Given the description of an element on the screen output the (x, y) to click on. 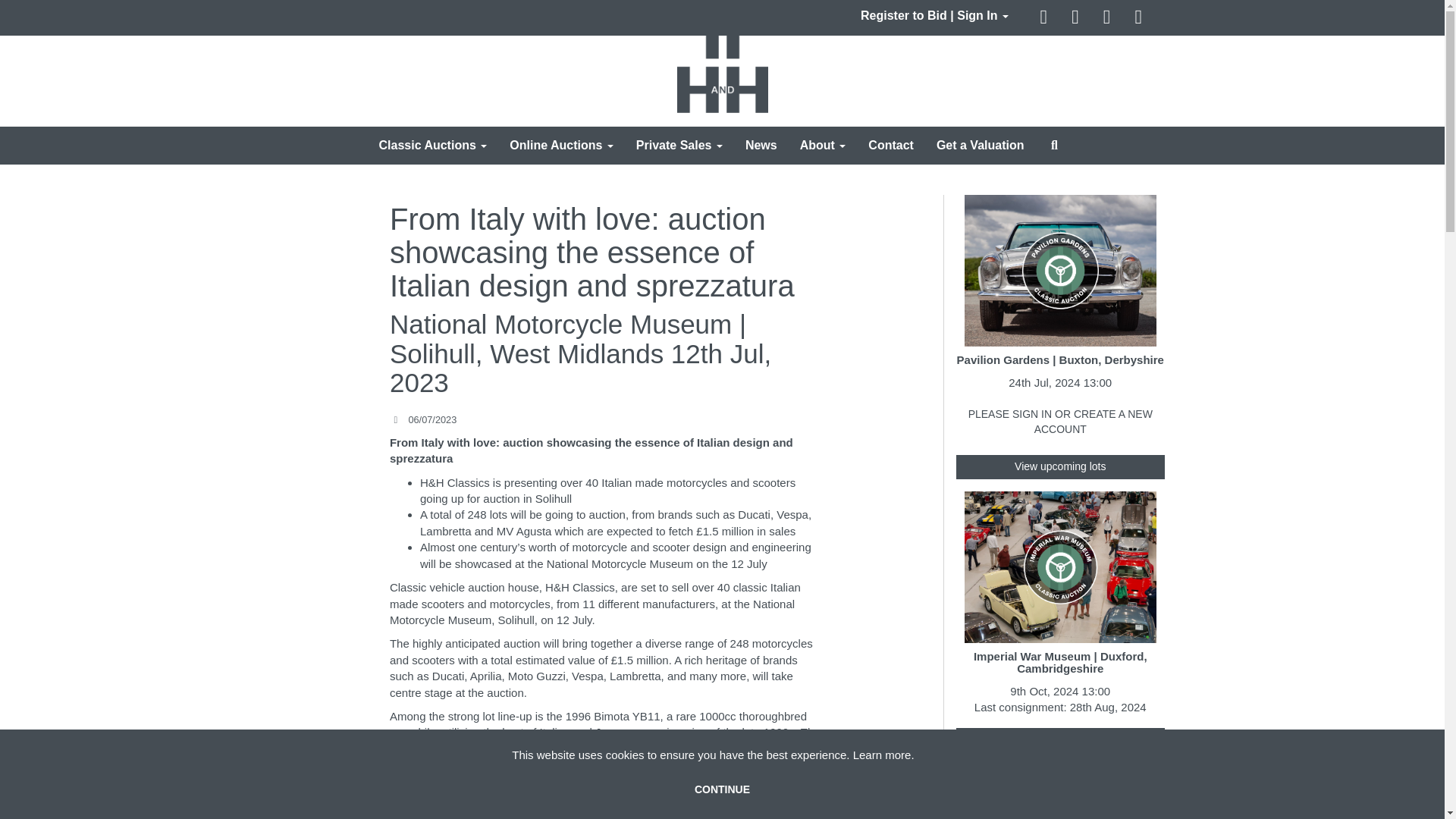
News (761, 145)
Online Auctions (560, 145)
Private Sales (678, 145)
Classic Auctions (431, 145)
About (823, 145)
